Given the description of an element on the screen output the (x, y) to click on. 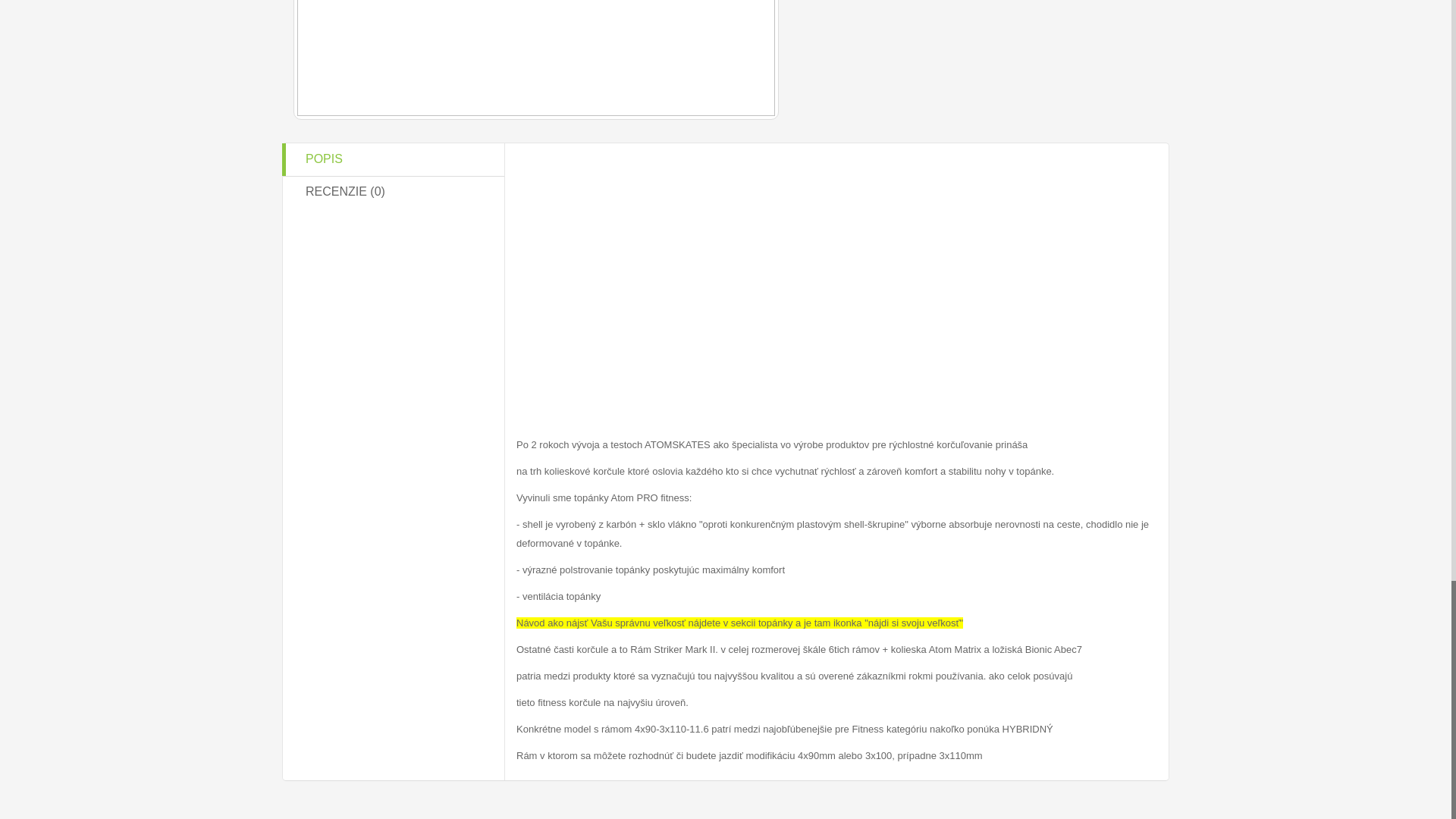
POPIS (392, 159)
ATOM PRO FITNESS 3x110mm (536, 59)
ATOM PRO FITNESS 3x110mm (535, 58)
